Given the description of an element on the screen output the (x, y) to click on. 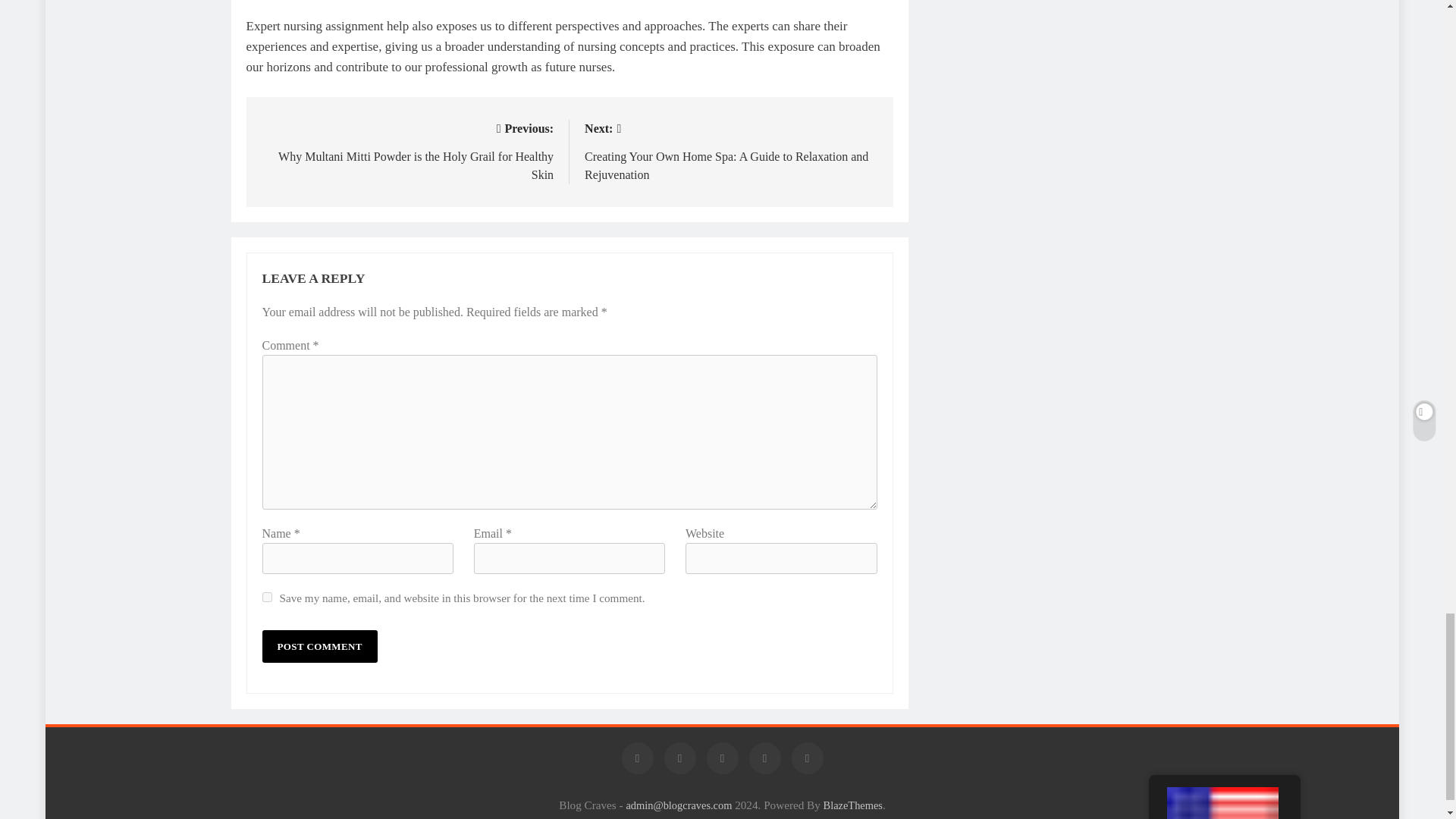
yes (267, 596)
Post Comment (319, 645)
